Given the description of an element on the screen output the (x, y) to click on. 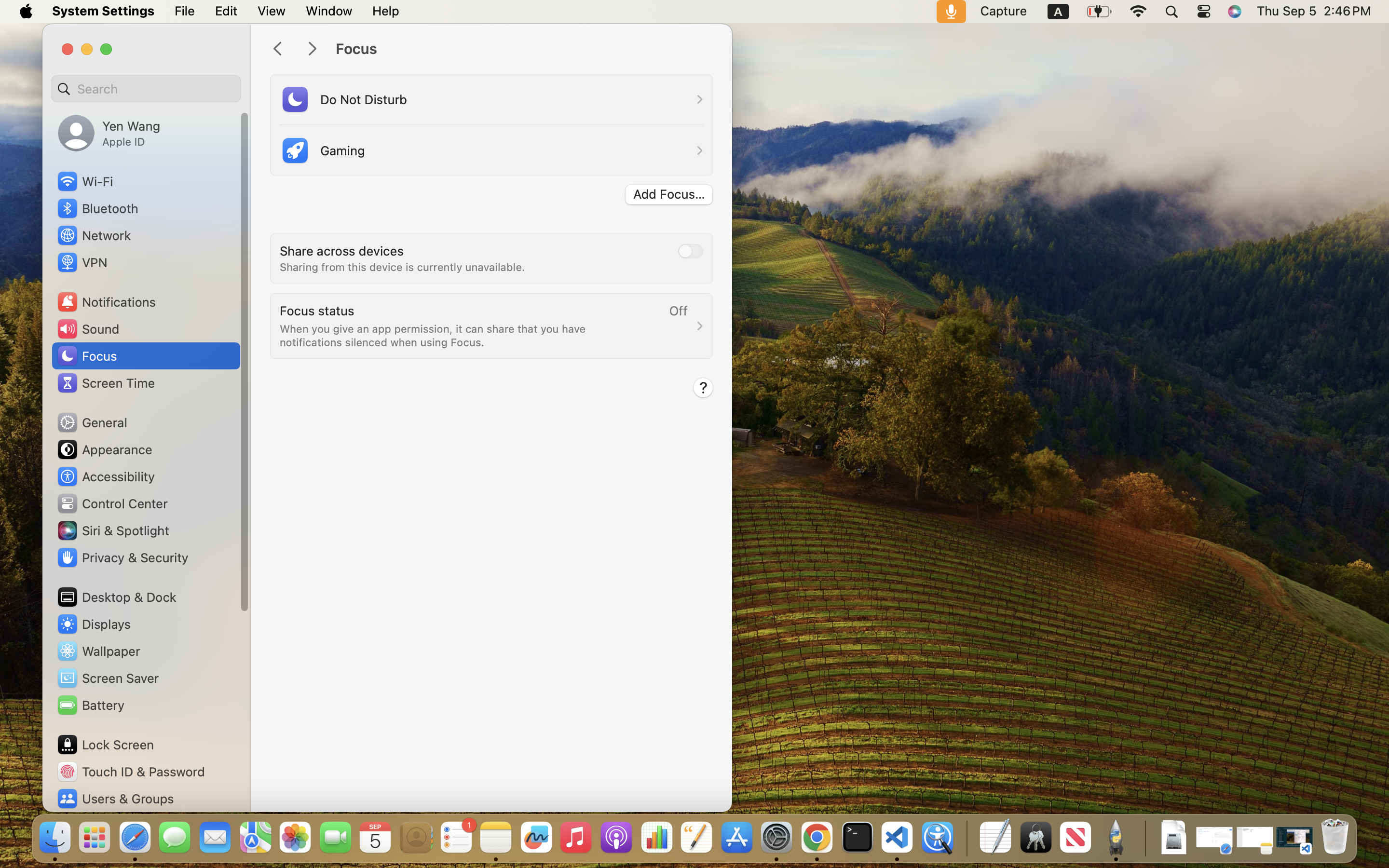
VPN Element type: AXStaticText (81, 261)
Screen Time Element type: AXStaticText (105, 382)
Users & Groups Element type: AXStaticText (114, 798)
Yen Wang, Apple ID Element type: AXStaticText (108, 132)
Sound Element type: AXStaticText (87, 328)
